Given the description of an element on the screen output the (x, y) to click on. 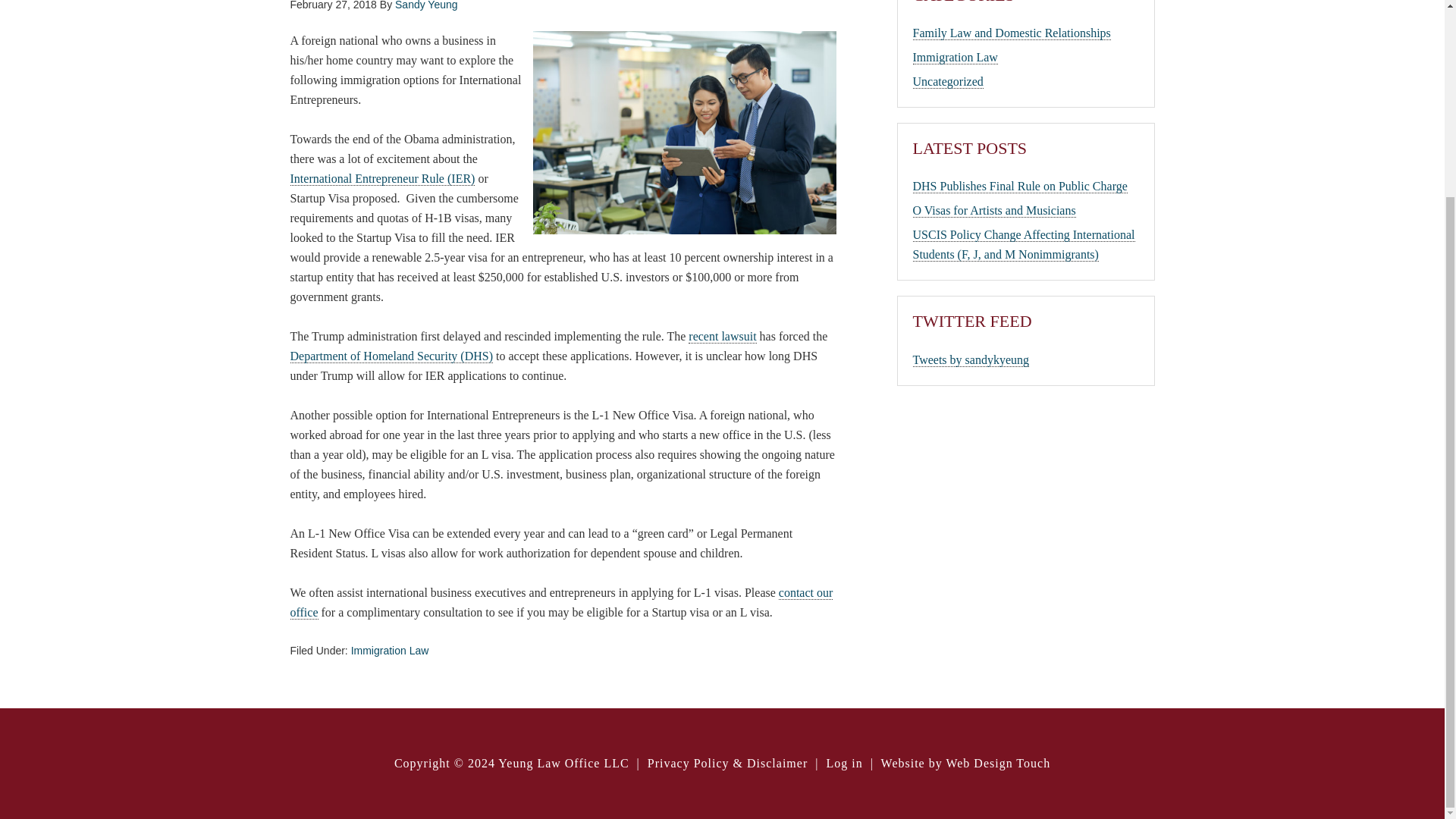
Immigration Law (389, 650)
O Visas for Artists and Musicians (993, 210)
Sandy Yeung (426, 4)
Web Design Touch (996, 762)
DHS Publishes Final Rule on Public Charge (1019, 186)
Uncategorized (948, 81)
Tweets by sandykyeung (970, 359)
Log in (843, 762)
contact our office (560, 602)
Immigration Law (954, 57)
